Given the description of an element on the screen output the (x, y) to click on. 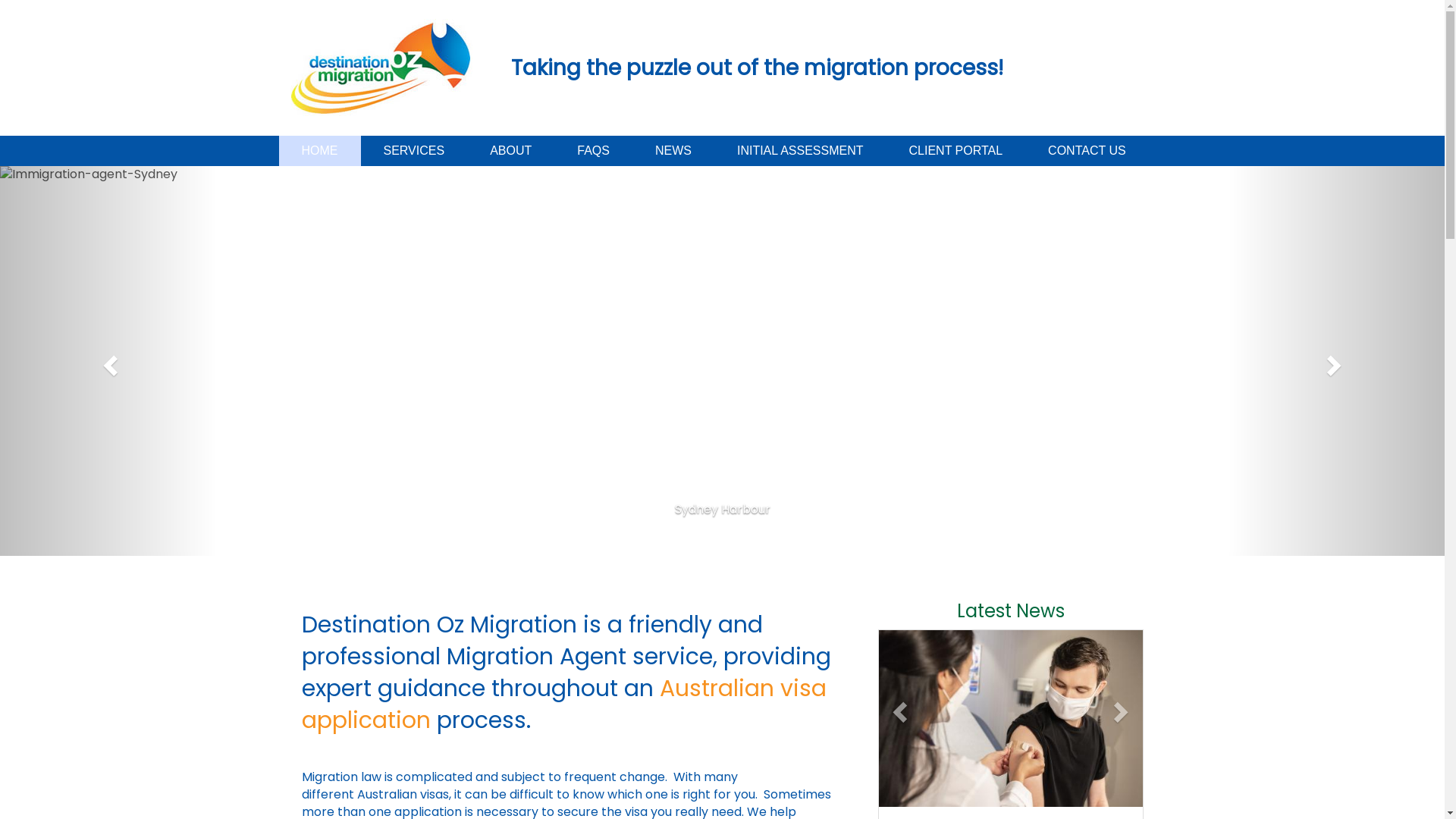
FAQS Element type: text (593, 150)
NEWS Element type: text (673, 150)
SERVICES Element type: text (413, 150)
CLIENT PORTAL Element type: text (955, 150)
INITIAL ASSESSMENT Element type: text (800, 150)
HOME Element type: text (319, 150)
Skip to main content Element type: text (0, 11)
ABOUT Element type: text (510, 150)
CONTACT US Element type: text (1086, 150)
Australian visa application Element type: text (563, 704)
Next Element type: text (1335, 360)
Previous Element type: text (108, 360)
